Given the description of an element on the screen output the (x, y) to click on. 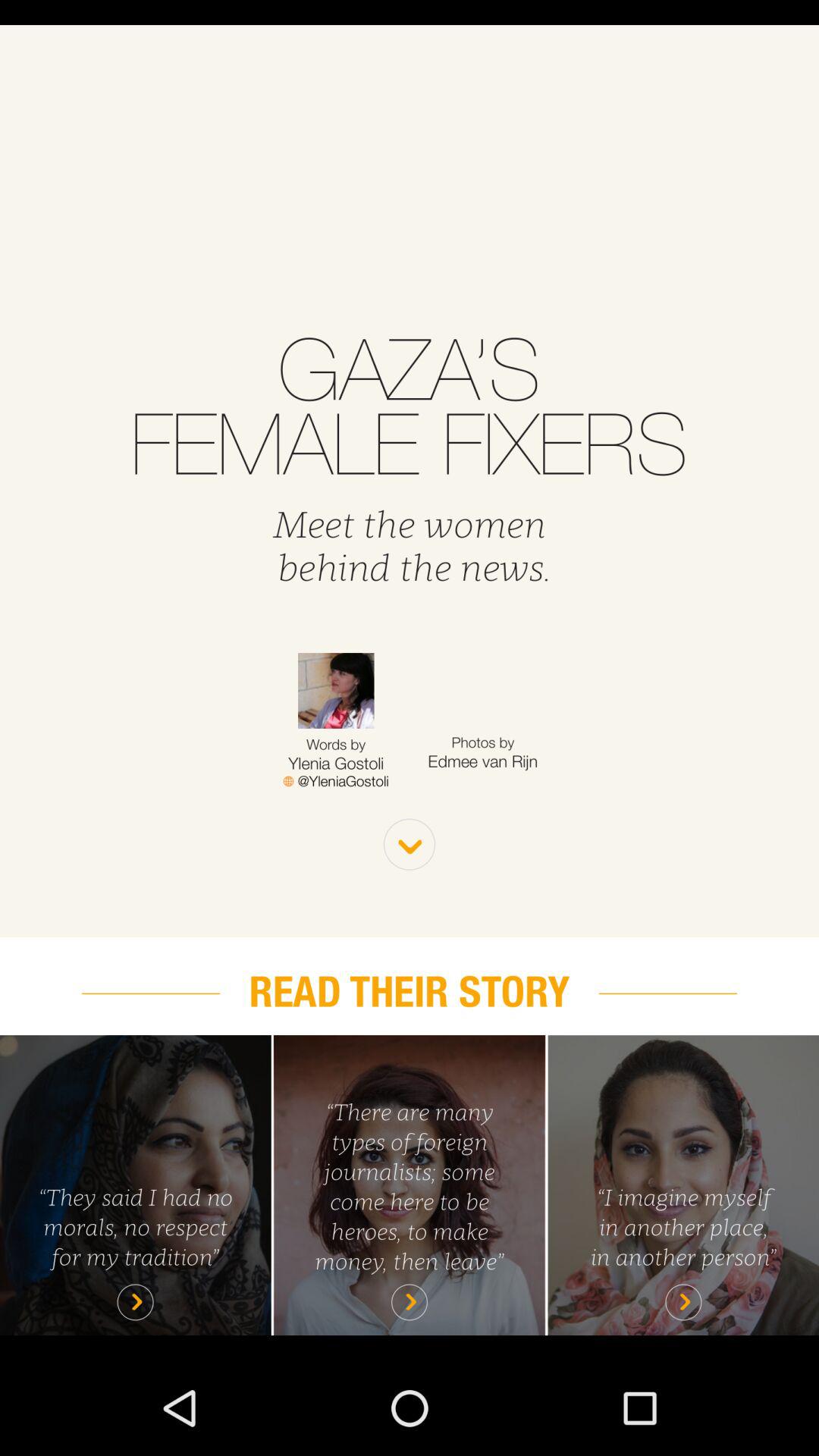
go to page (135, 1184)
